Given the description of an element on the screen output the (x, y) to click on. 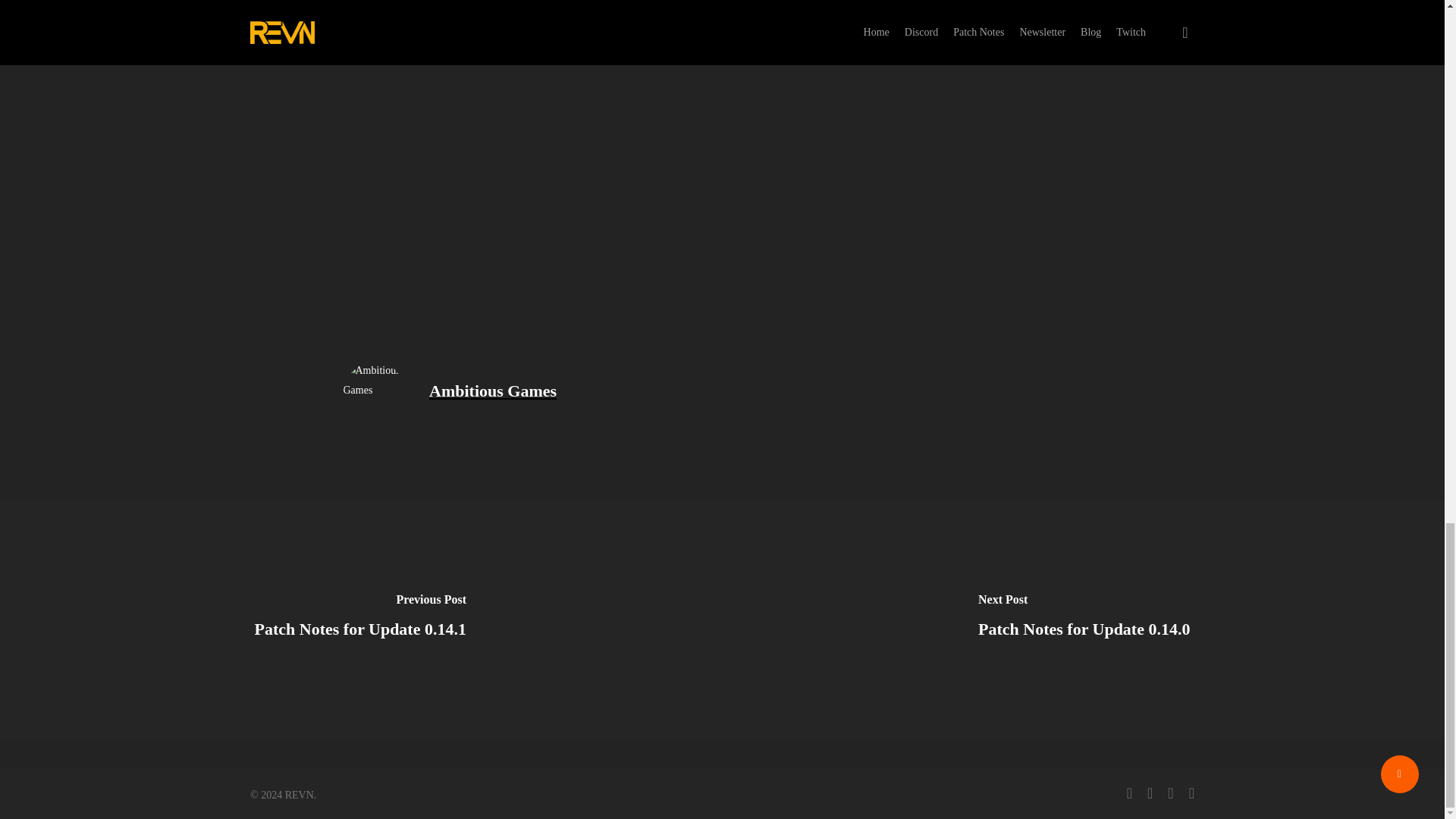
Ambitious Games (492, 390)
